Given the description of an element on the screen output the (x, y) to click on. 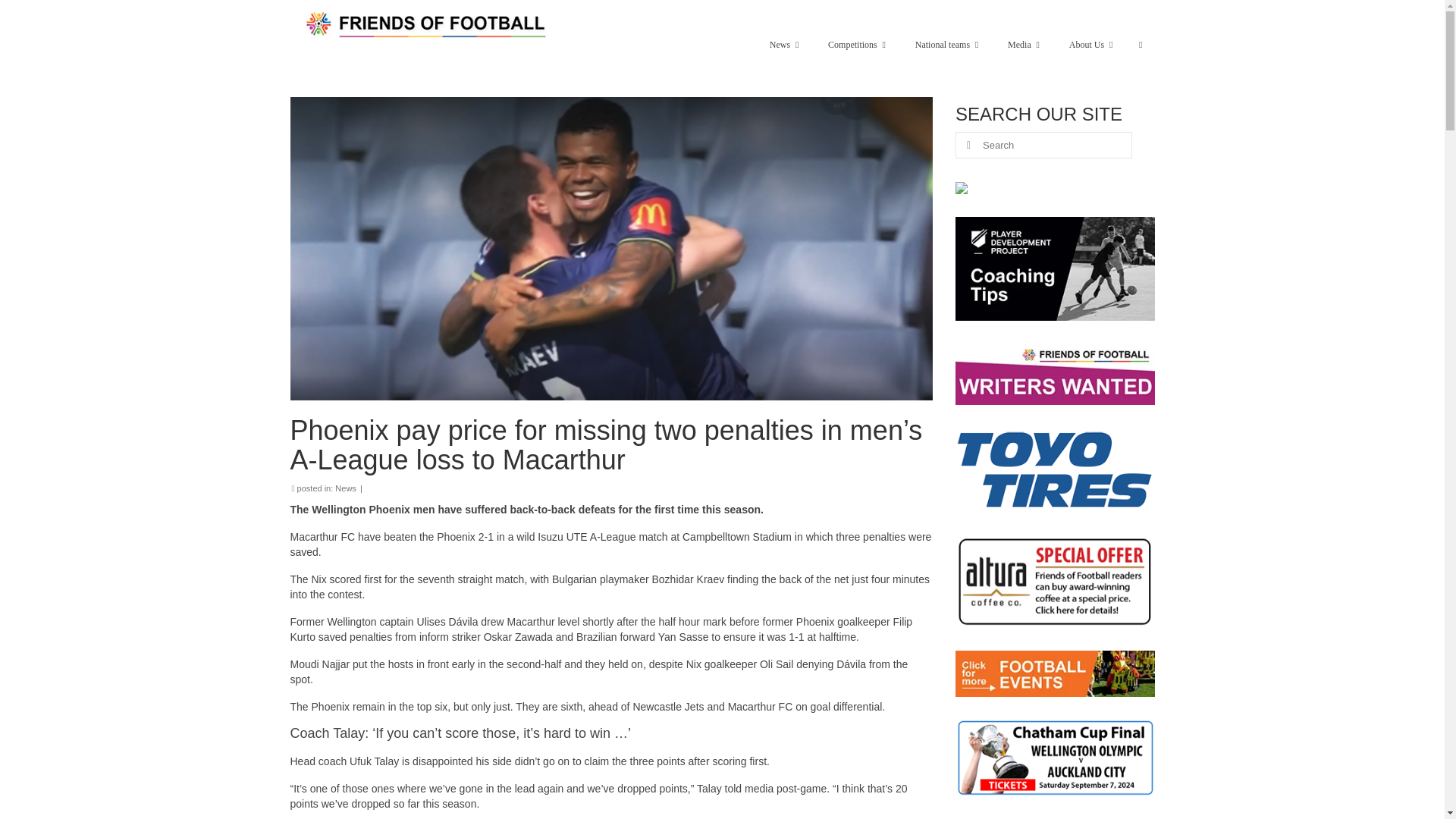
Friends of Football (428, 23)
News (783, 44)
Search (1140, 44)
Competitions (855, 44)
Media (1023, 44)
National teams (945, 44)
About Us (1090, 44)
